Given the description of an element on the screen output the (x, y) to click on. 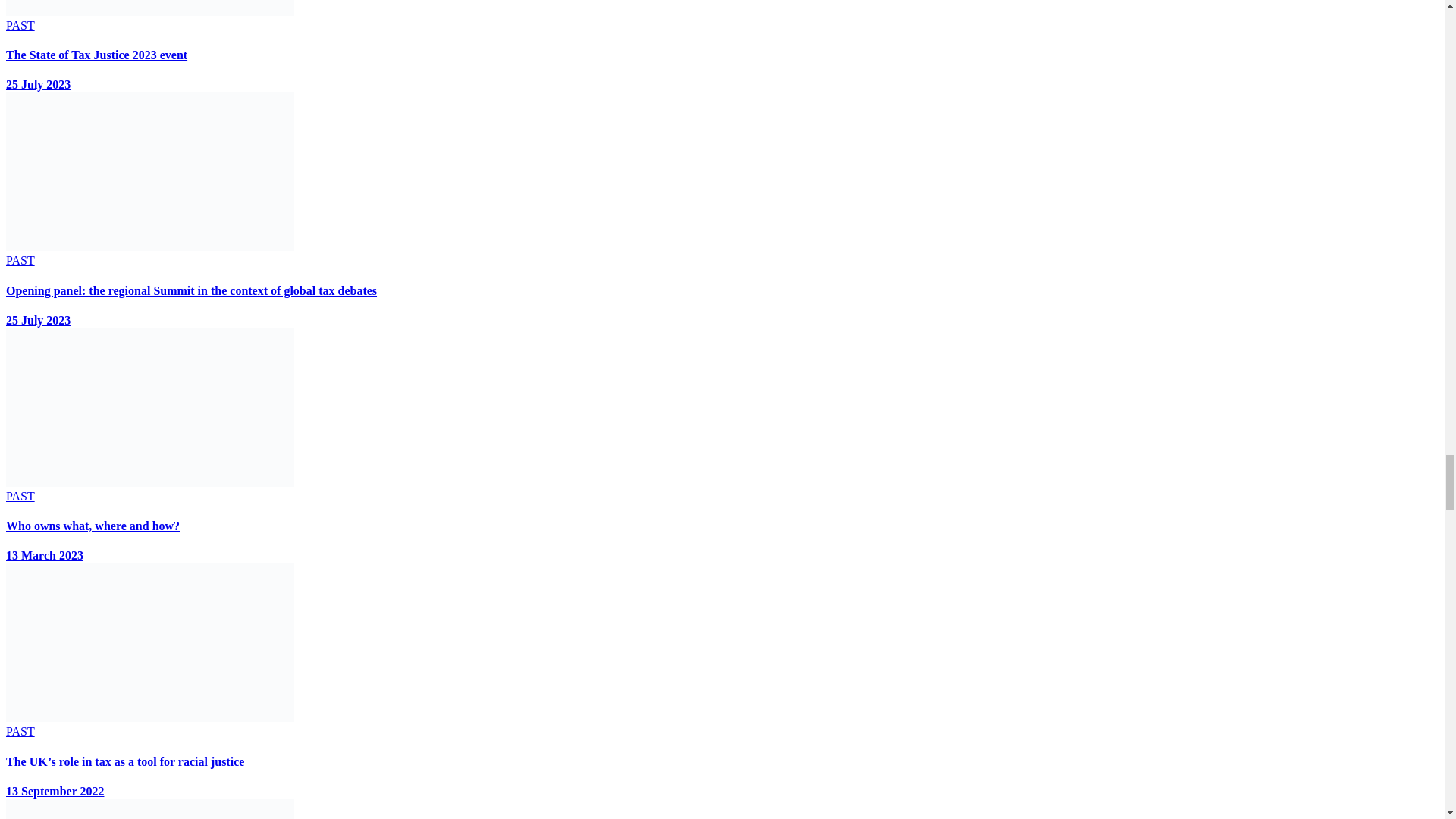
BO event page image (149, 406)
tax as a tool for racial justice banner Option F (149, 641)
